Given the description of an element on the screen output the (x, y) to click on. 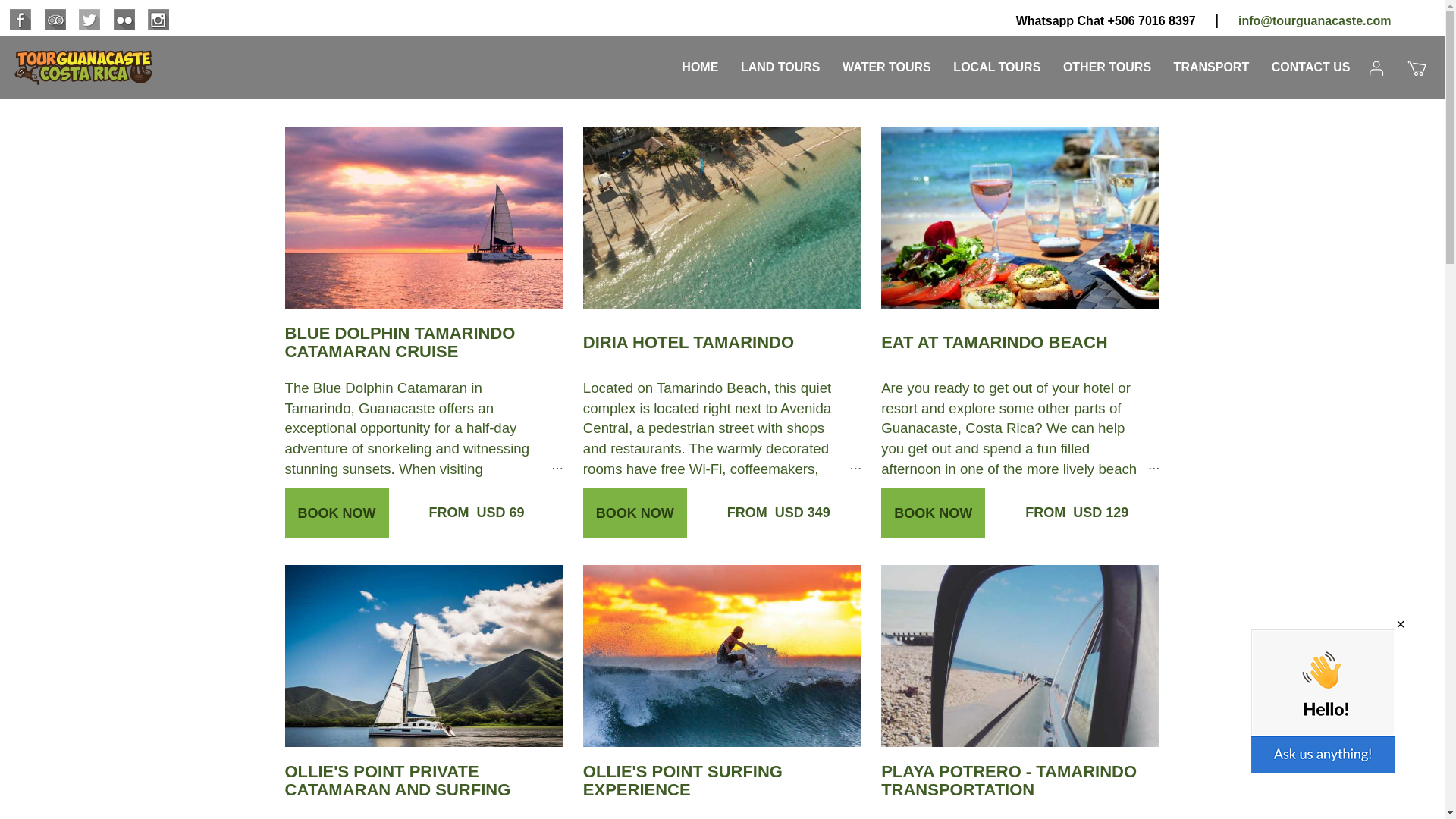
LOCAL TOURS (996, 60)
HOME (699, 60)
LAND TOURS (780, 60)
WATER TOURS (886, 60)
